Given the description of an element on the screen output the (x, y) to click on. 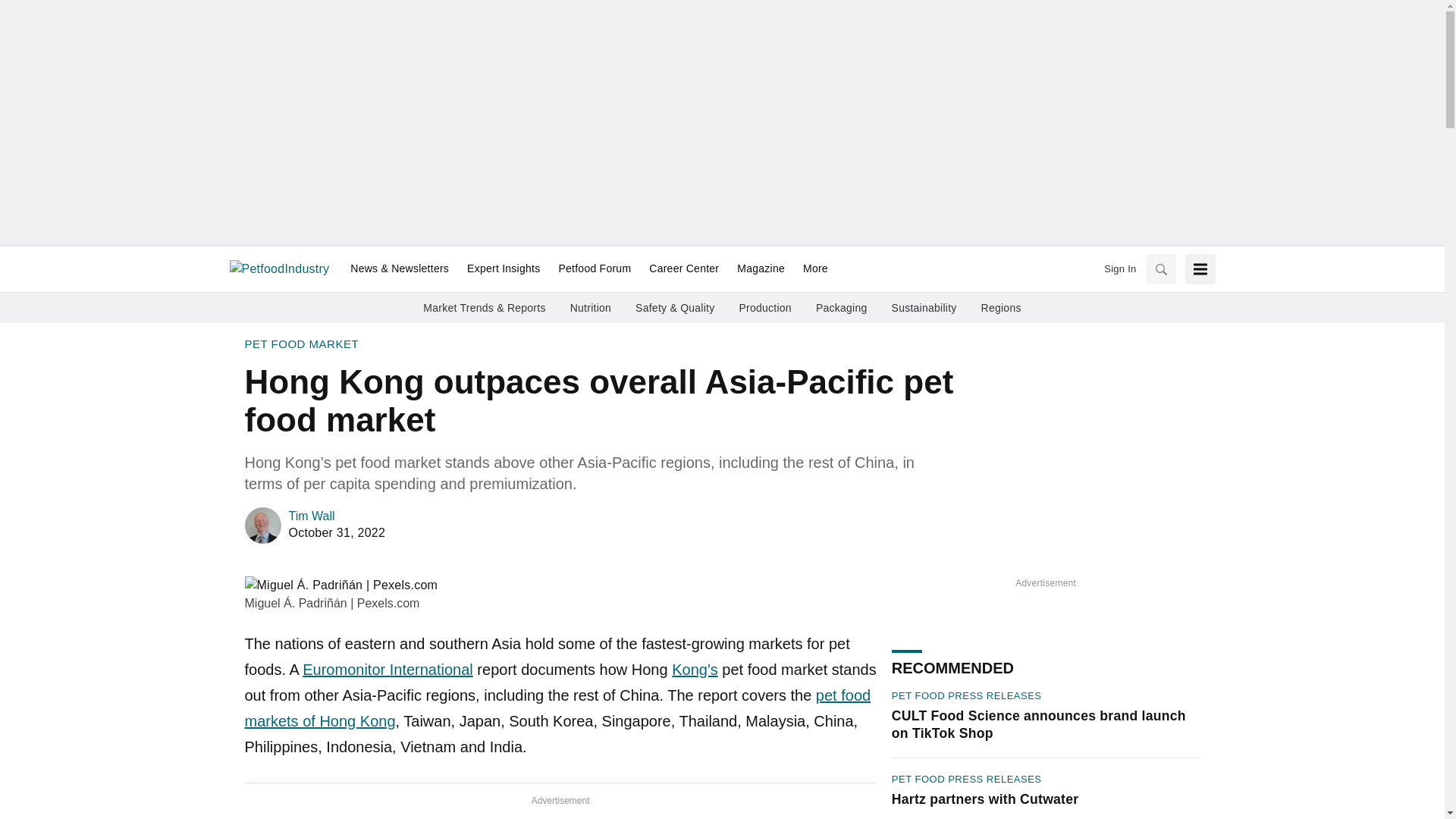
Packaging (841, 307)
Expert Insights (503, 269)
Production (764, 307)
Petfood Forum (594, 269)
Nutrition (590, 307)
Magazine (760, 269)
Sustainability (923, 307)
Regions (1001, 307)
Pet Food Market (301, 343)
Career Center (684, 269)
